Given the description of an element on the screen output the (x, y) to click on. 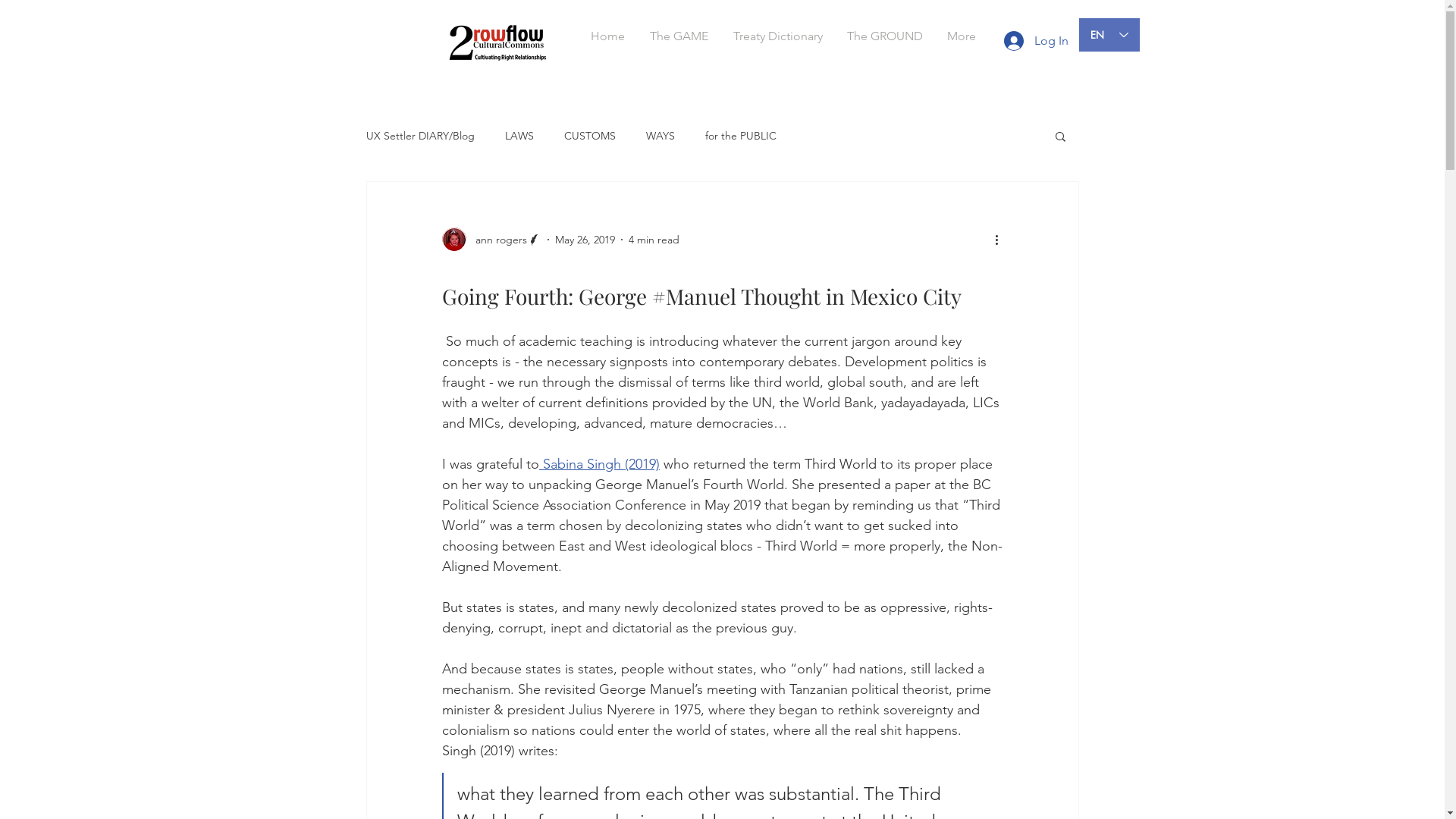
LAWS Element type: text (519, 135)
Home Element type: text (607, 35)
The GAME Element type: text (678, 35)
for the PUBLIC Element type: text (740, 135)
CUSTOMS Element type: text (589, 135)
Log In Element type: text (1036, 40)
WAYS Element type: text (660, 135)
 Sabina Singh (2019) Element type: text (599, 463)
The GROUND Element type: text (884, 35)
ann rogers Element type: text (491, 239)
UX Settler DIARY/Blog Element type: text (419, 135)
Treaty Dictionary Element type: text (777, 35)
